Given the description of an element on the screen output the (x, y) to click on. 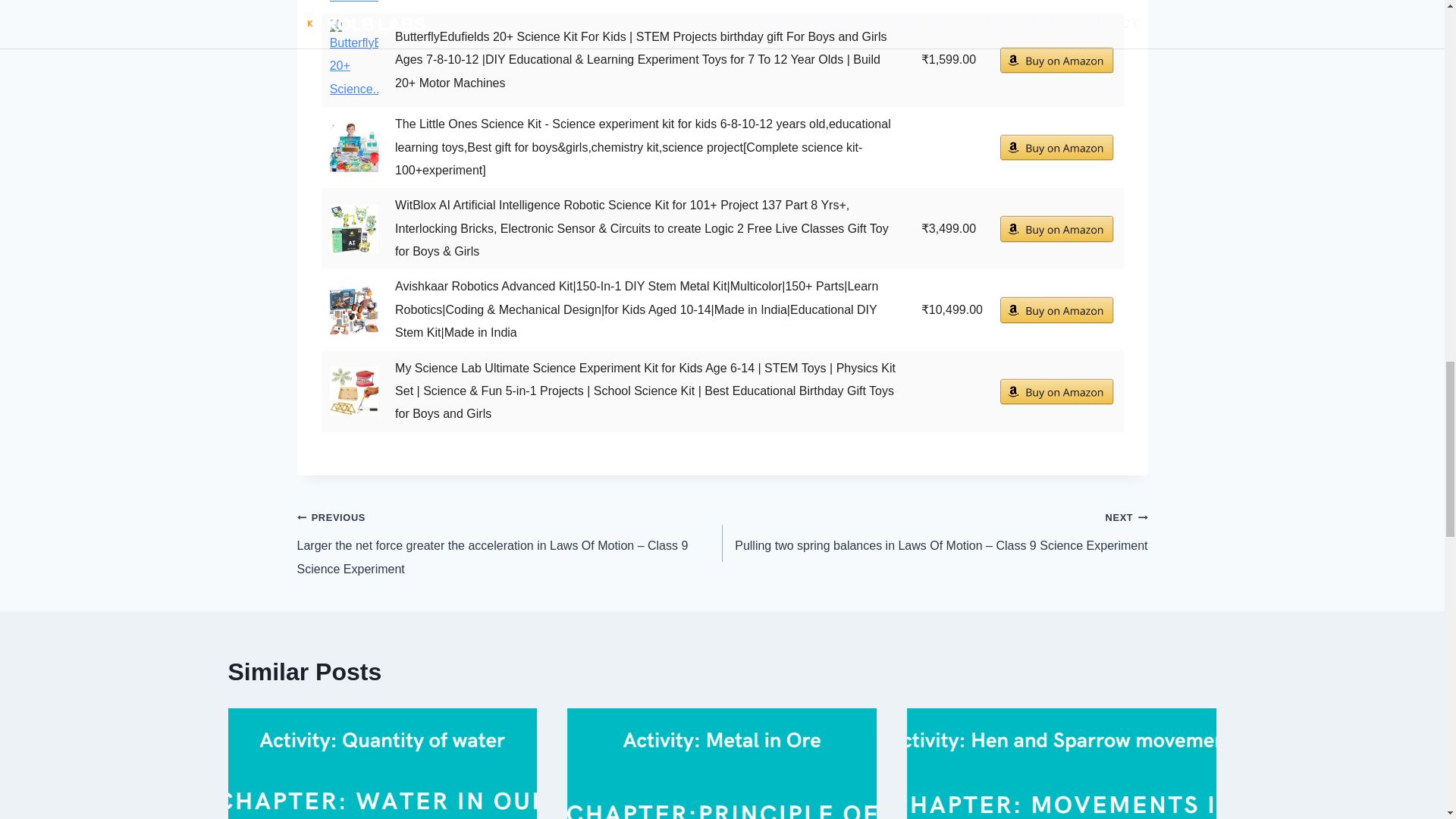
Buy On Amazon (1056, 228)
Buy On Amazon (1056, 147)
Buy On Amazon (1056, 309)
Buy On Amazon (1056, 391)
Buy On Amazon (1056, 59)
